Given the description of an element on the screen output the (x, y) to click on. 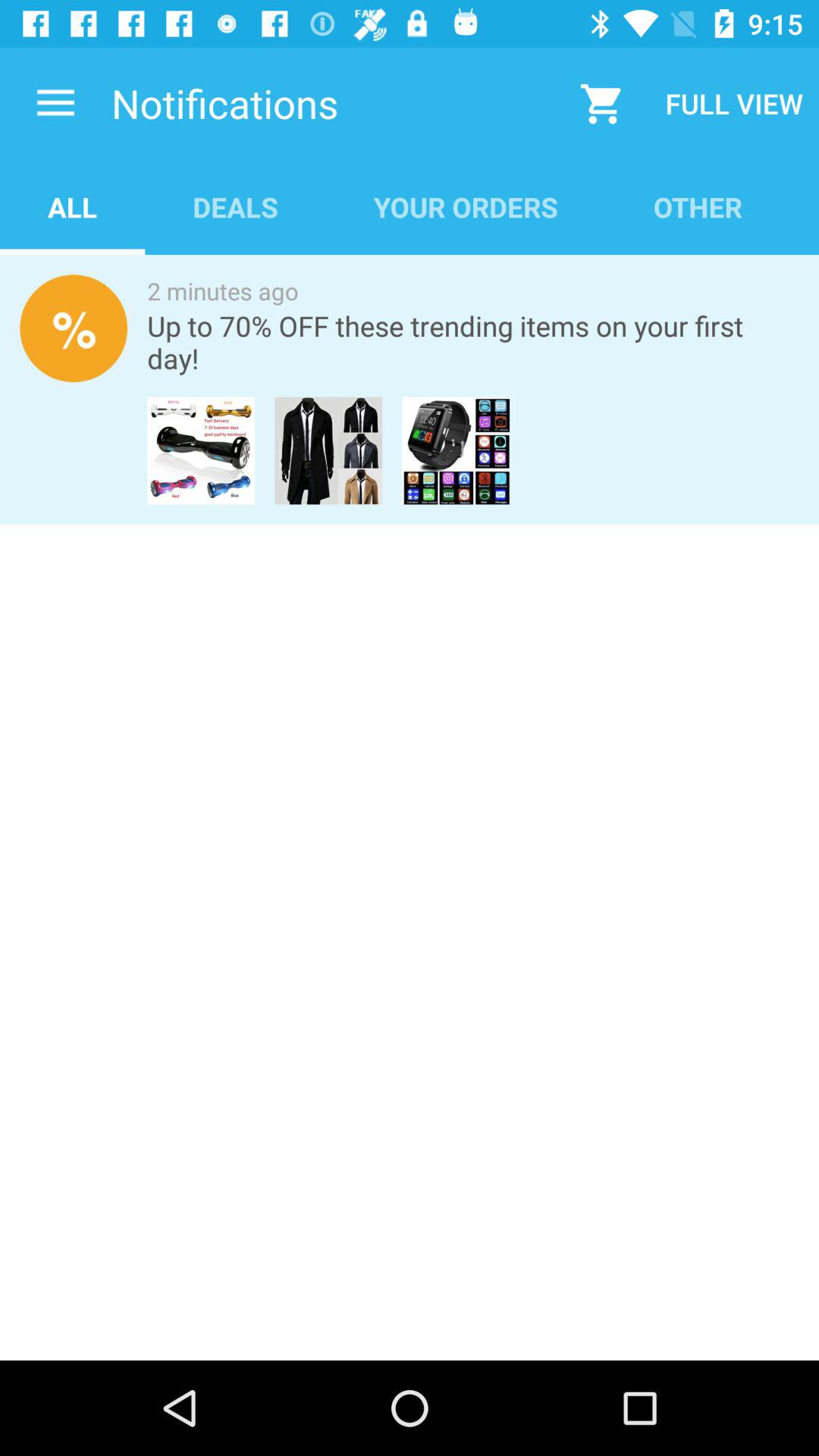
turn on icon below the notifications item (465, 206)
